Given the description of an element on the screen output the (x, y) to click on. 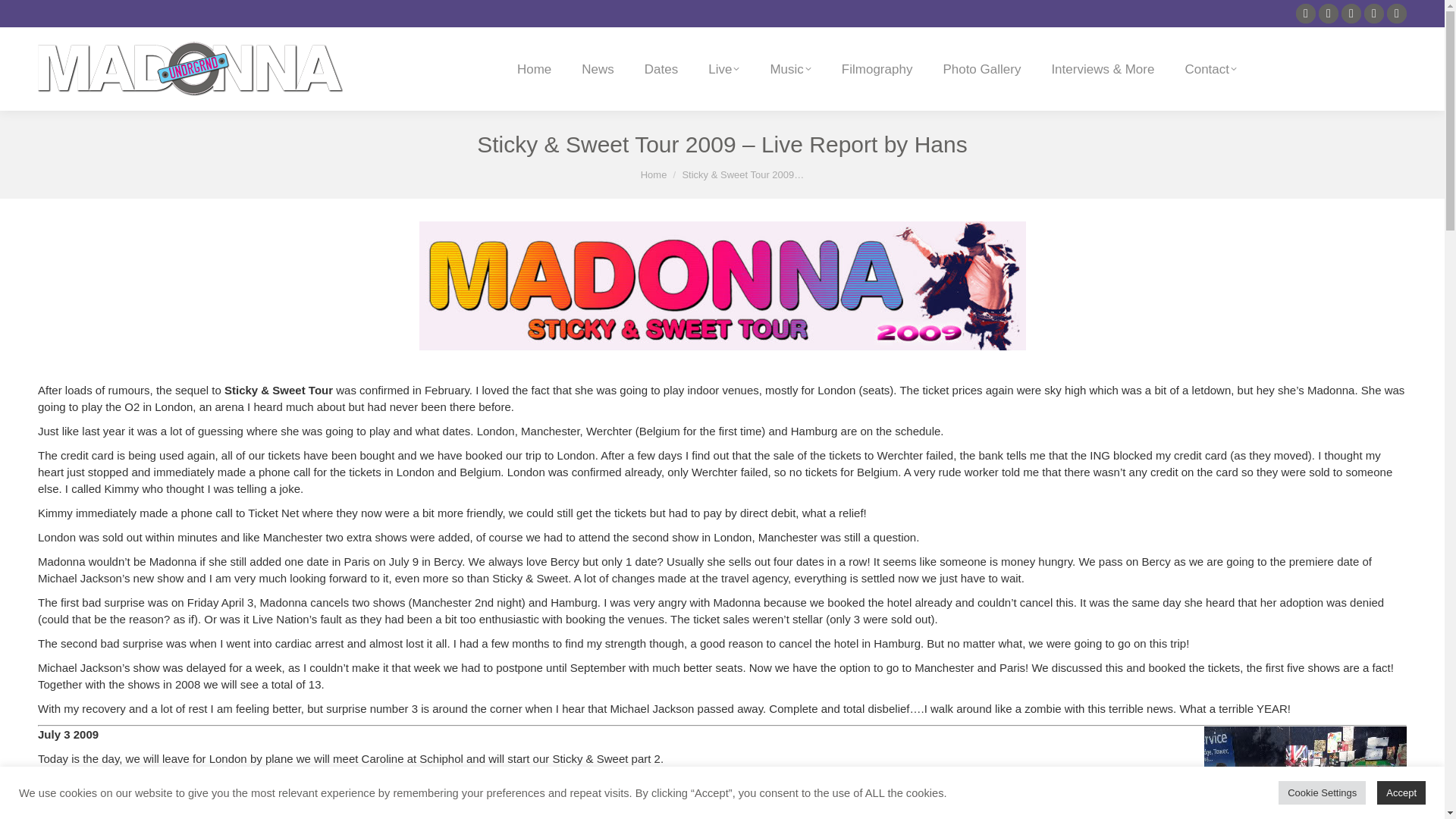
Vimeo page opens in new window (1328, 13)
X page opens in new window (1374, 13)
Instagram page opens in new window (1305, 13)
YouTube page opens in new window (1350, 13)
Contact (1210, 68)
YouTube page opens in new window (1350, 13)
Music (790, 68)
X page opens in new window (1374, 13)
Photo Gallery (981, 68)
Facebook page opens in new window (1396, 13)
